Given the description of an element on the screen output the (x, y) to click on. 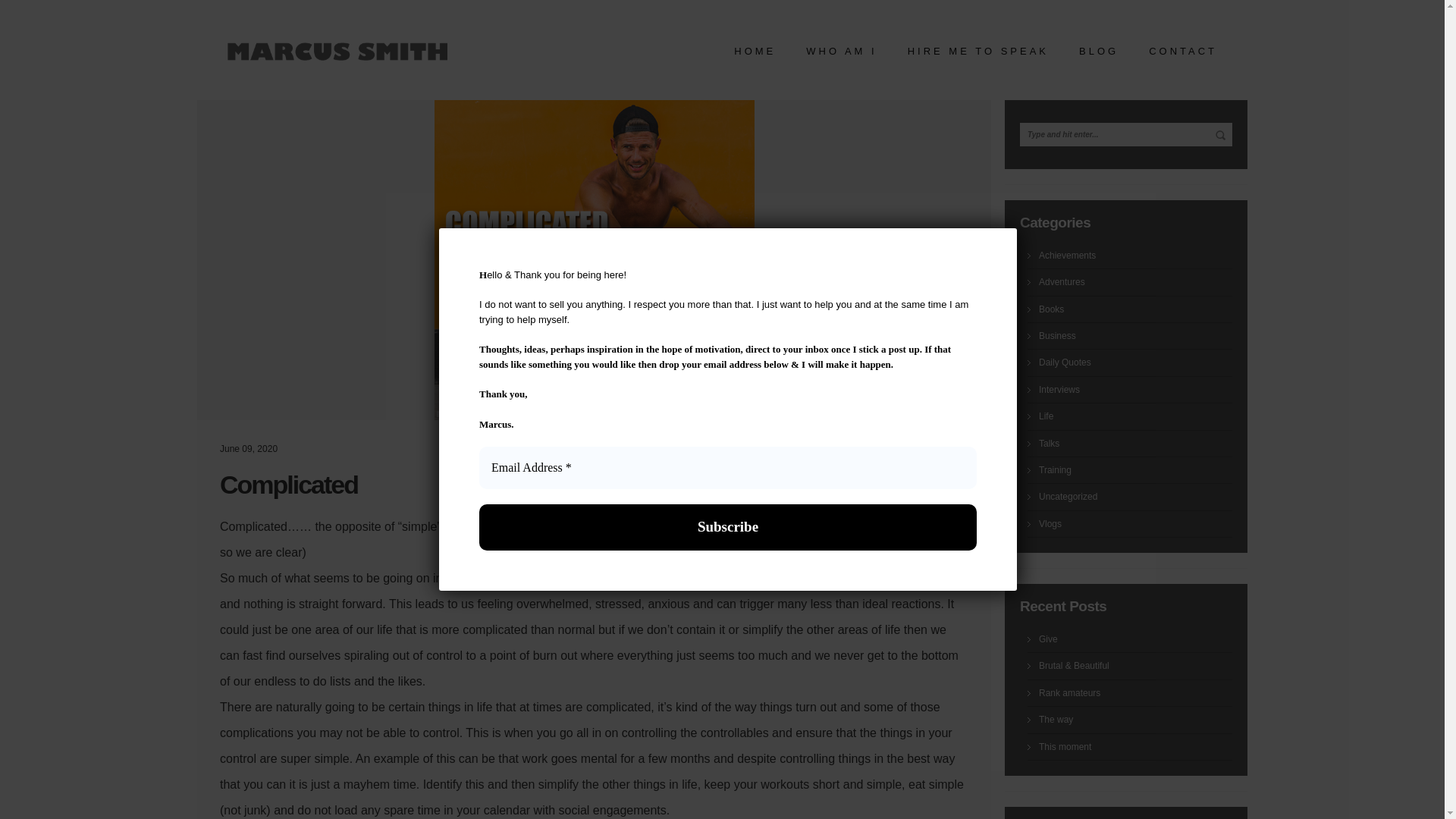
Home (754, 54)
Talks (1135, 443)
This moment (1135, 747)
Business (1135, 335)
CONTACT (1182, 54)
Who am I (841, 54)
Uncategorized (1135, 496)
Email Address (727, 467)
Training (1135, 470)
Interviews (1135, 389)
Daily Quotes (1135, 362)
Rank amateurs (1135, 692)
Blog (1098, 54)
Vlogs (1135, 523)
Achievements (1135, 255)
